Given the description of an element on the screen output the (x, y) to click on. 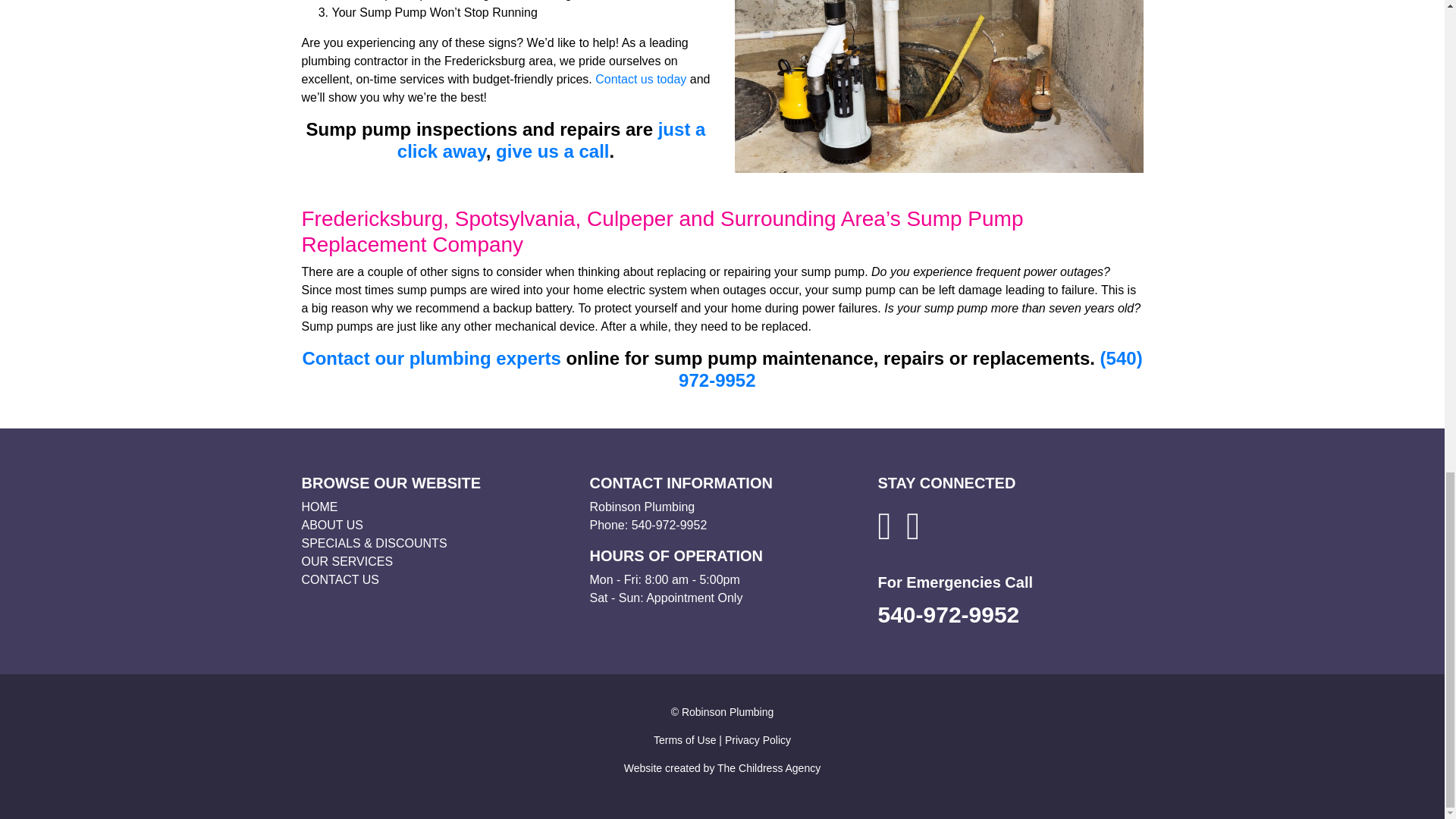
Contact us today (640, 78)
CONTACT US (340, 579)
HOME (319, 506)
ABOUT US (332, 524)
OUR SERVICES (347, 561)
give us a call (552, 150)
Contact our plumbing experts (430, 358)
just a click away (551, 139)
